Given the description of an element on the screen output the (x, y) to click on. 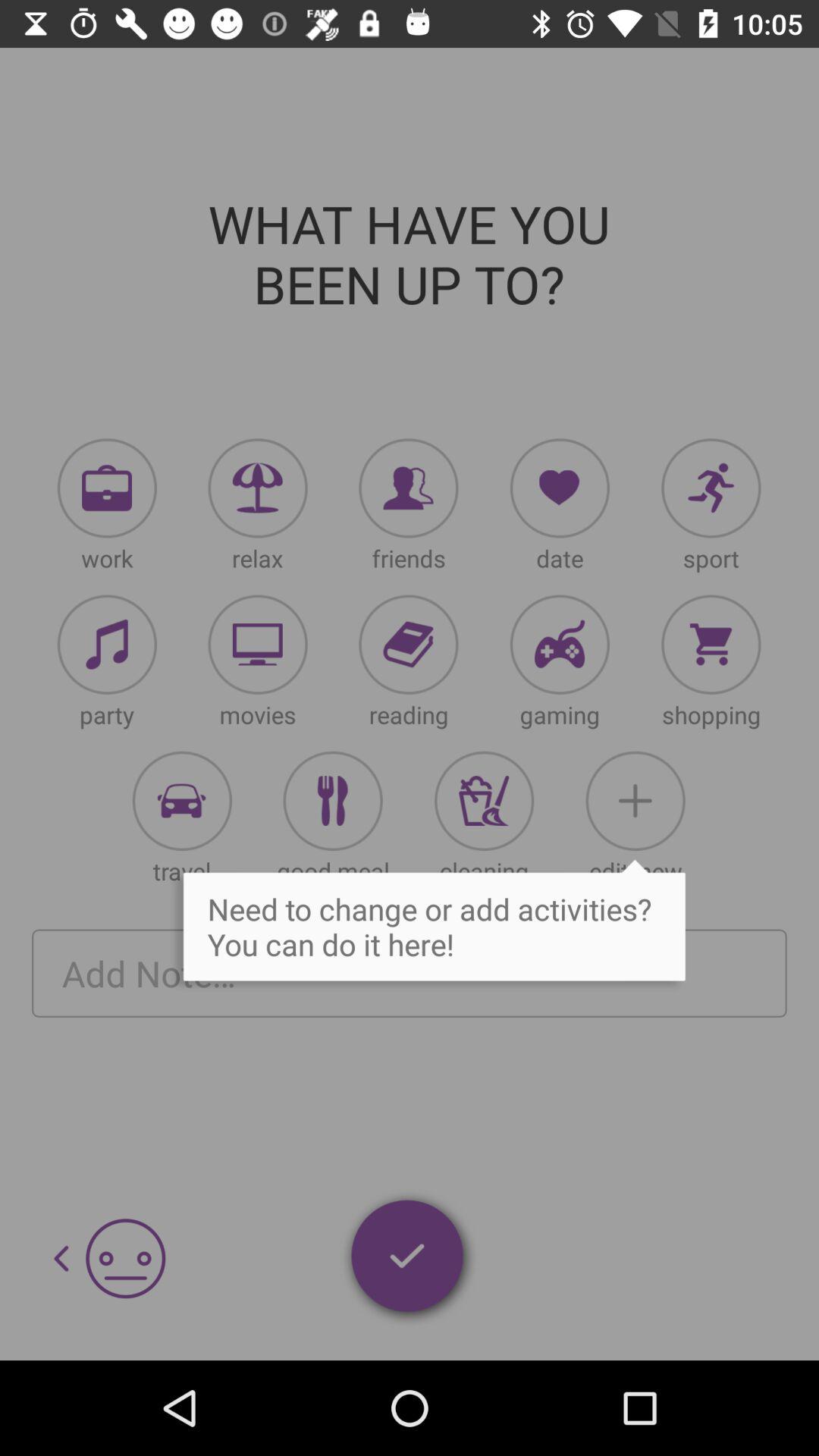
select party (106, 644)
